Given the description of an element on the screen output the (x, y) to click on. 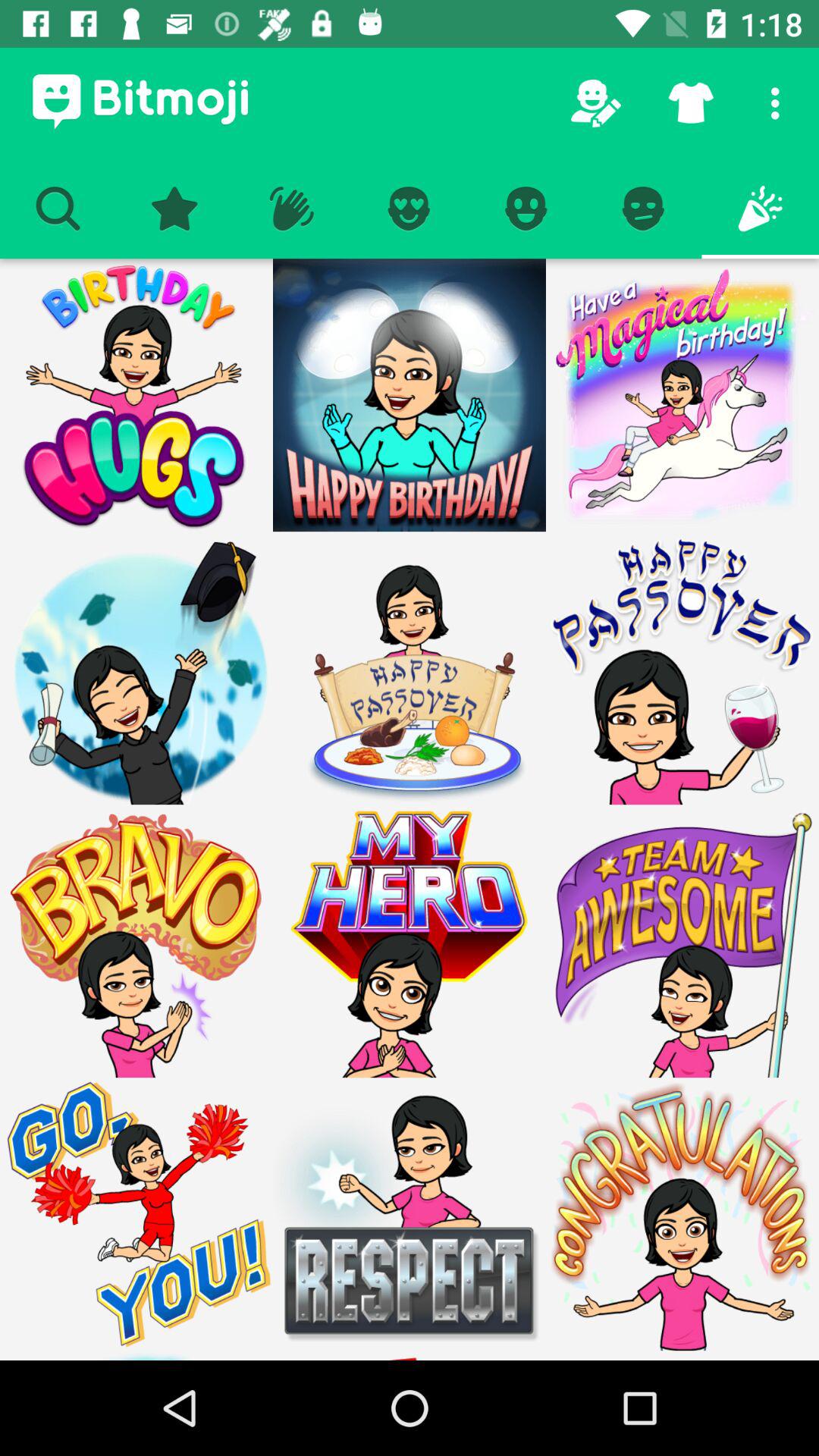
select option (682, 1213)
